Given the description of an element on the screen output the (x, y) to click on. 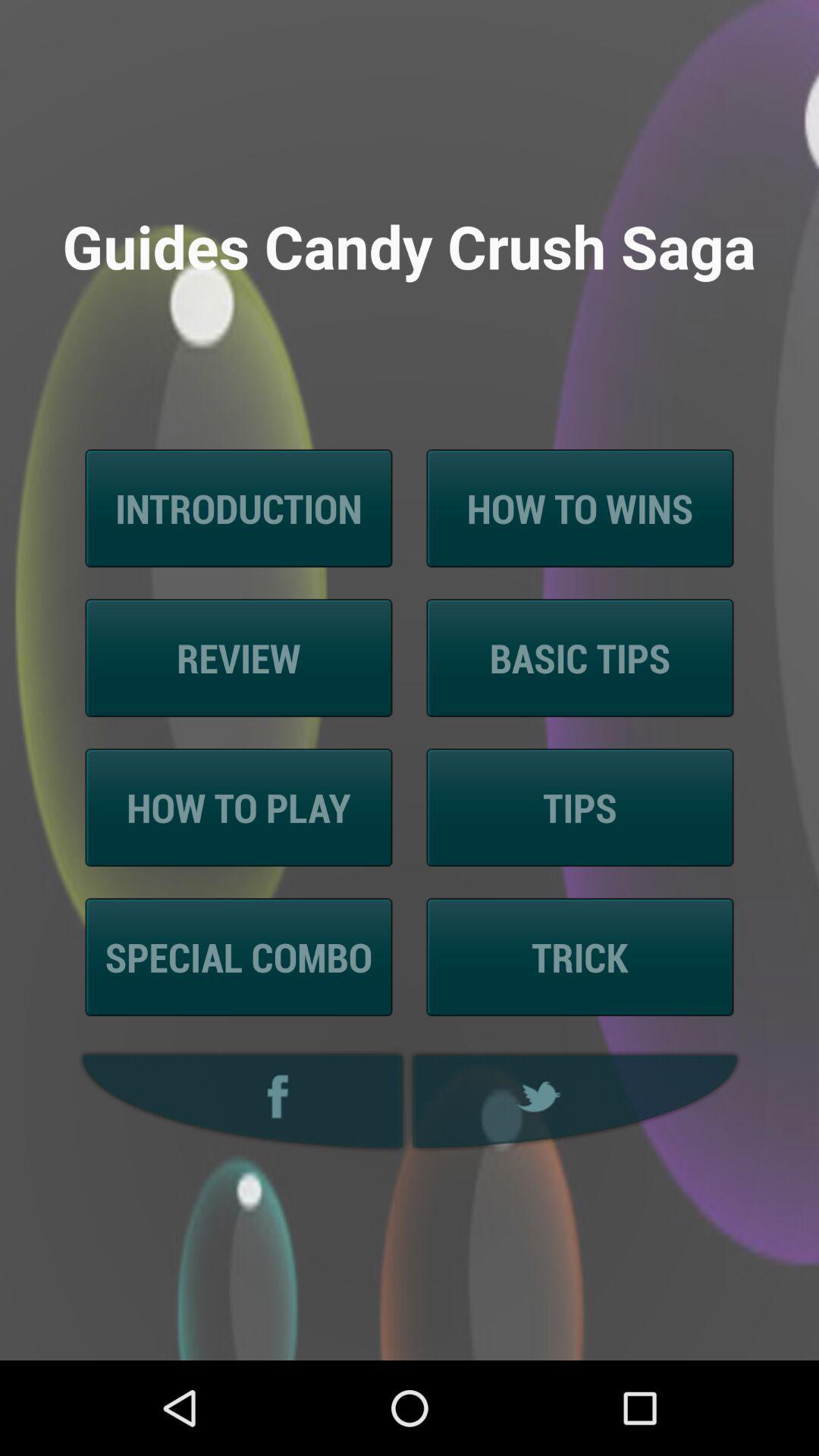
select the item above tips icon (579, 657)
